Given the description of an element on the screen output the (x, y) to click on. 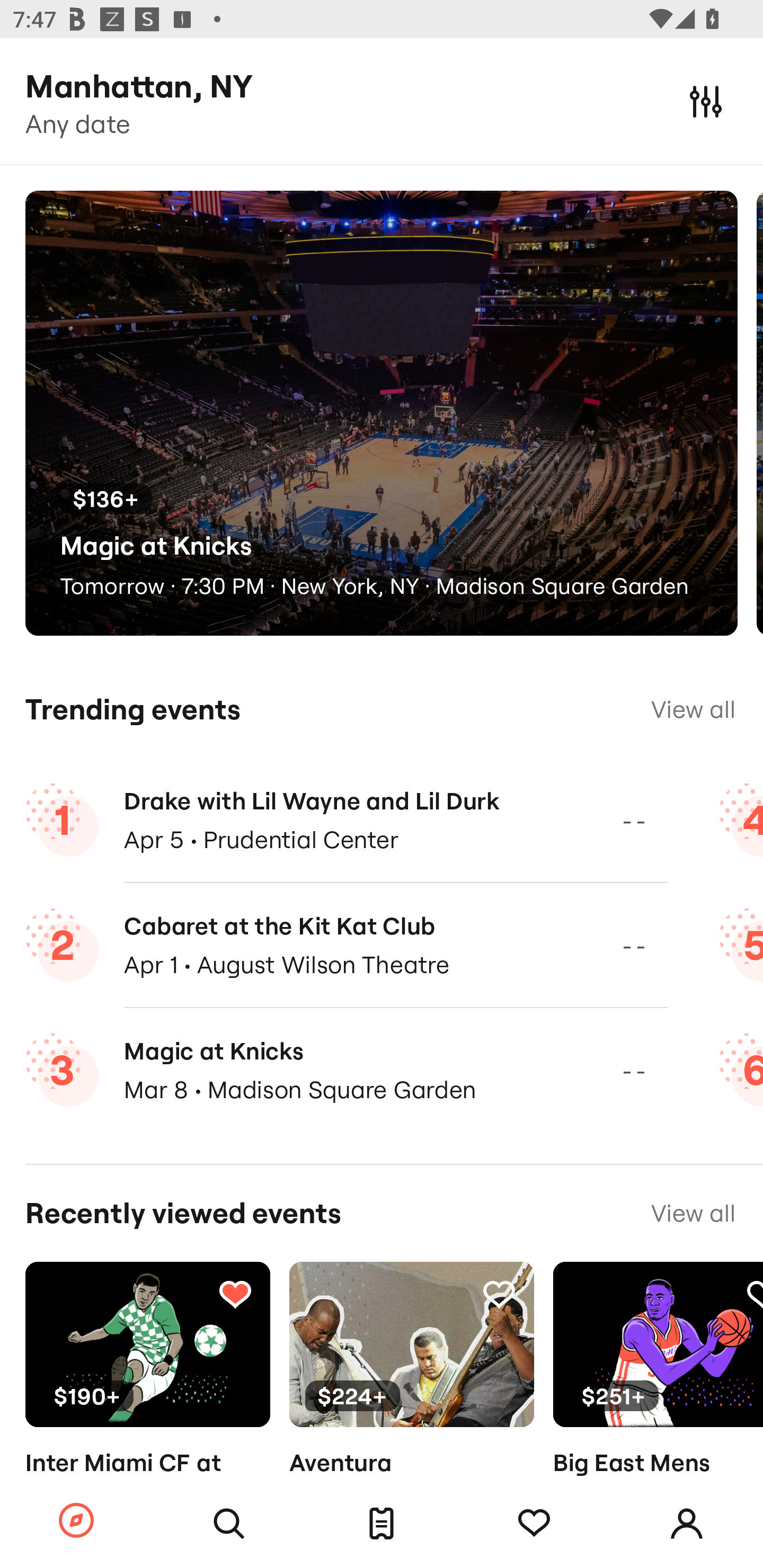
Close (705, 100)
View all (693, 709)
View all (693, 1213)
Tracking $224+ Aventura Thu, May 30, 8 PM (411, 1399)
Tracking (234, 1293)
Tracking (498, 1293)
Browse (76, 1521)
Search (228, 1523)
Tickets (381, 1523)
Tracking (533, 1523)
Account (686, 1523)
